Given the description of an element on the screen output the (x, y) to click on. 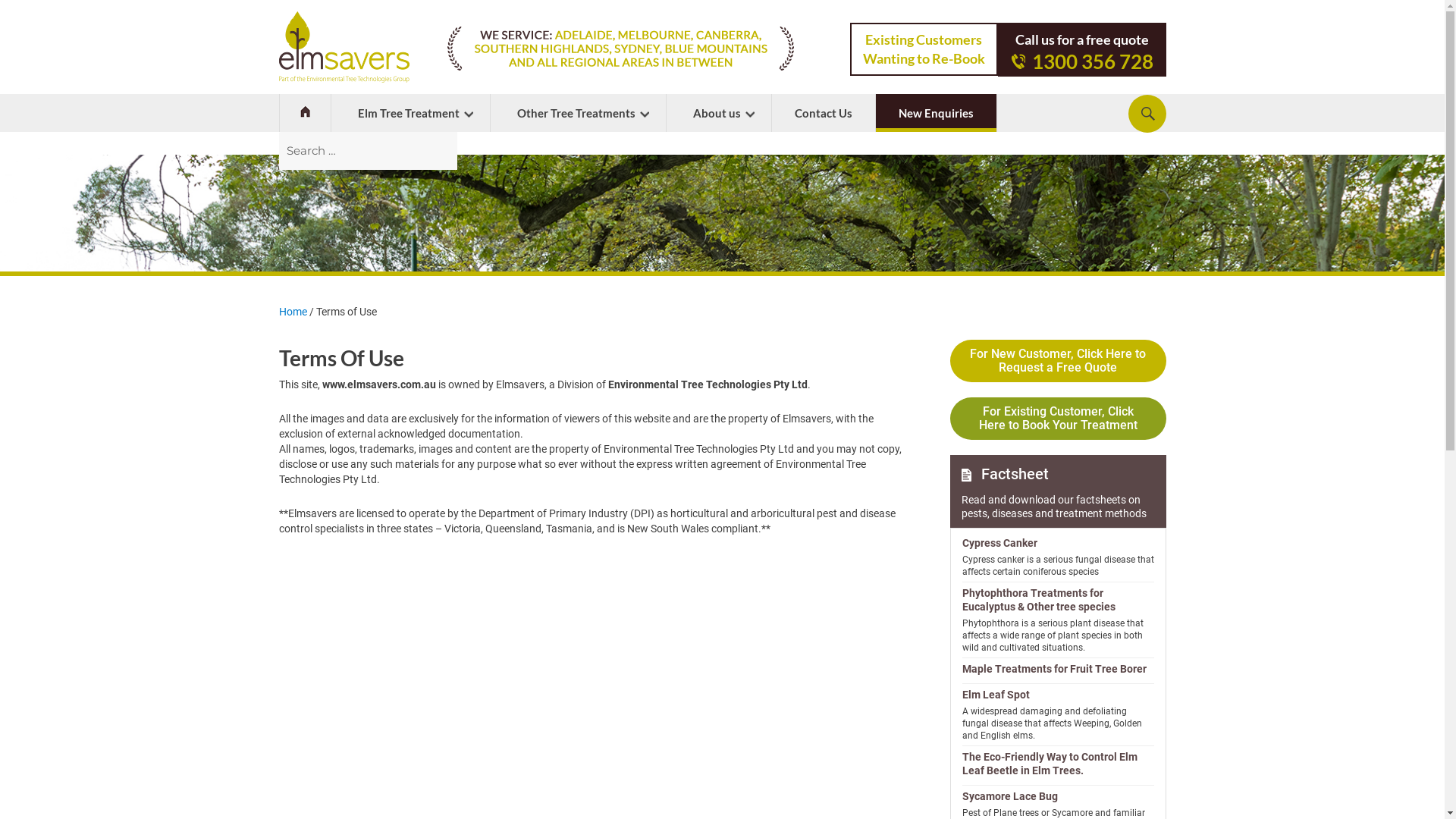
Existing Customers
Wanting to Re-Book Element type: text (923, 49)
Elm Savers Element type: hover (966, 474)
For Existing Customer, Click Here to Book Your Treatment Element type: text (1057, 418)
Home Element type: hover (304, 112)
Elm Tree Treatment Element type: text (409, 112)
New Enquiries Element type: text (935, 112)
Elm Savers Phone Element type: hover (1017, 61)
1300 356 728 Element type: text (1081, 60)
Elm Savers Element type: hover (305, 111)
For New Customer, Click Here to Request a Free Quote Element type: text (1057, 360)
Sycamore Lace Bug Element type: text (1057, 796)
Elm Savers Element type: hover (722, 212)
About us Element type: text (717, 112)
Other Tree Treatments Element type: text (577, 112)
Contact Us Element type: text (823, 112)
Home Element type: text (293, 311)
Phytophthora Treatments for Eucalyptus & Other tree species Element type: text (1057, 599)
Elm Leaf Spot Element type: text (1057, 694)
Maple Treatments for Fruit Tree Borer Element type: text (1057, 668)
SEARCH HERE.. Element type: text (1147, 113)
Elm Savers Element type: hover (344, 46)
Cypress Canker Element type: text (1057, 542)
Elm Savers Element type: hover (620, 48)
